Given the description of an element on the screen output the (x, y) to click on. 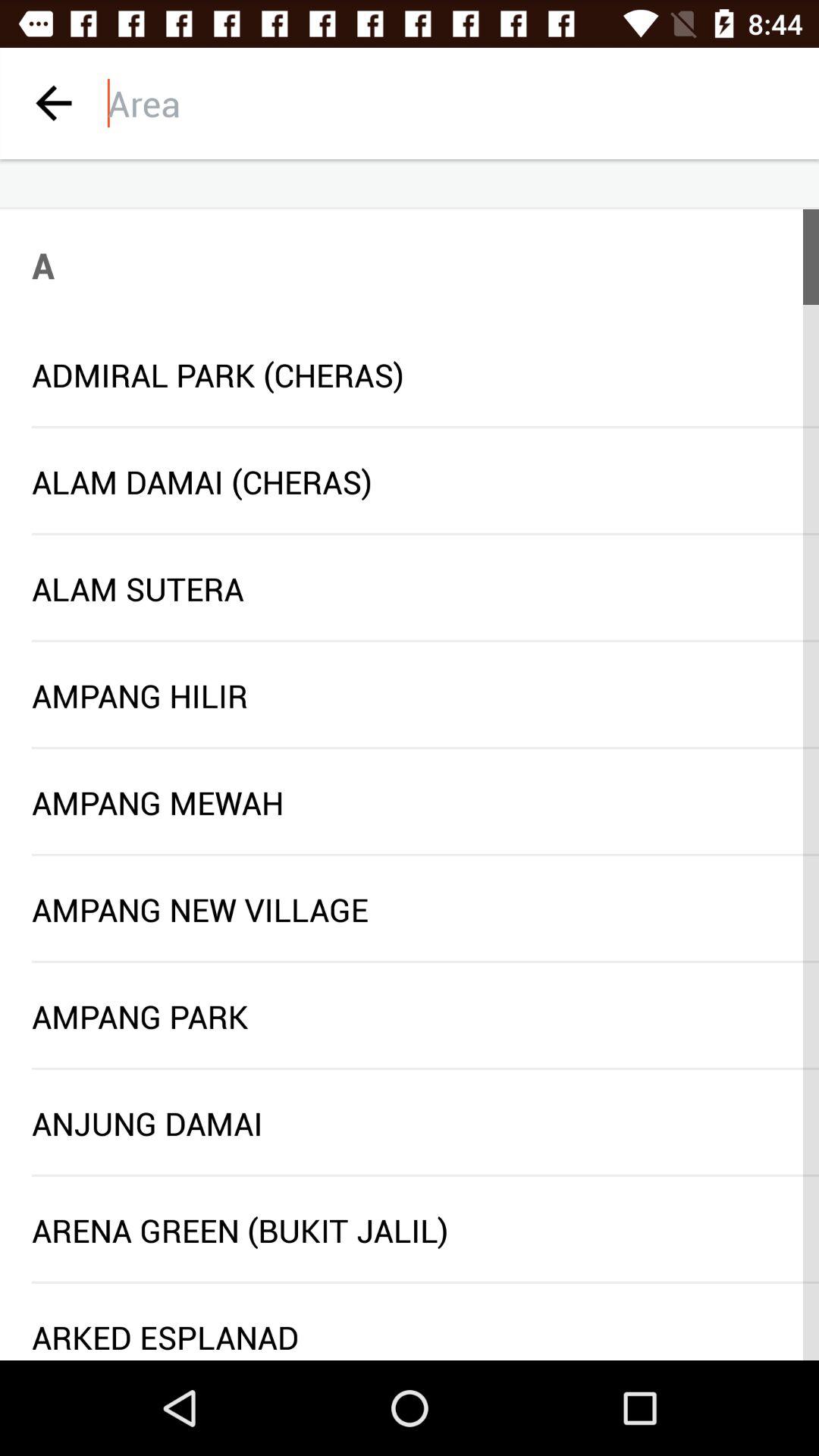
turn on the ampang mewah icon (409, 802)
